Given the description of an element on the screen output the (x, y) to click on. 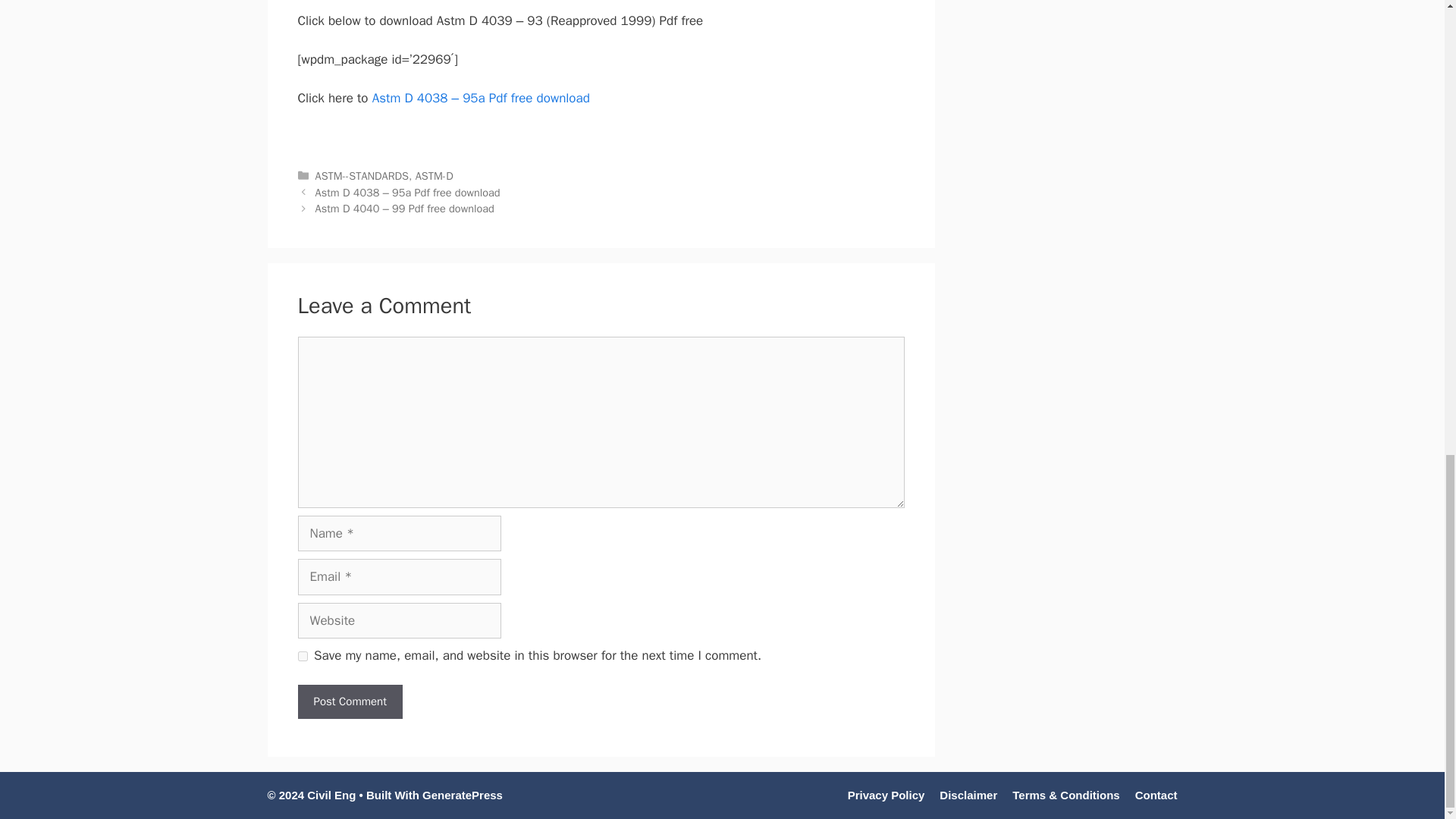
GeneratePress (462, 794)
Disclaimer (968, 794)
Contact (1156, 794)
ASTM-D (433, 175)
Privacy Policy (885, 794)
Scroll back to top (1406, 509)
Post Comment (349, 701)
yes (302, 655)
ASTM--STANDARDS (362, 175)
Post Comment (349, 701)
